Given the description of an element on the screen output the (x, y) to click on. 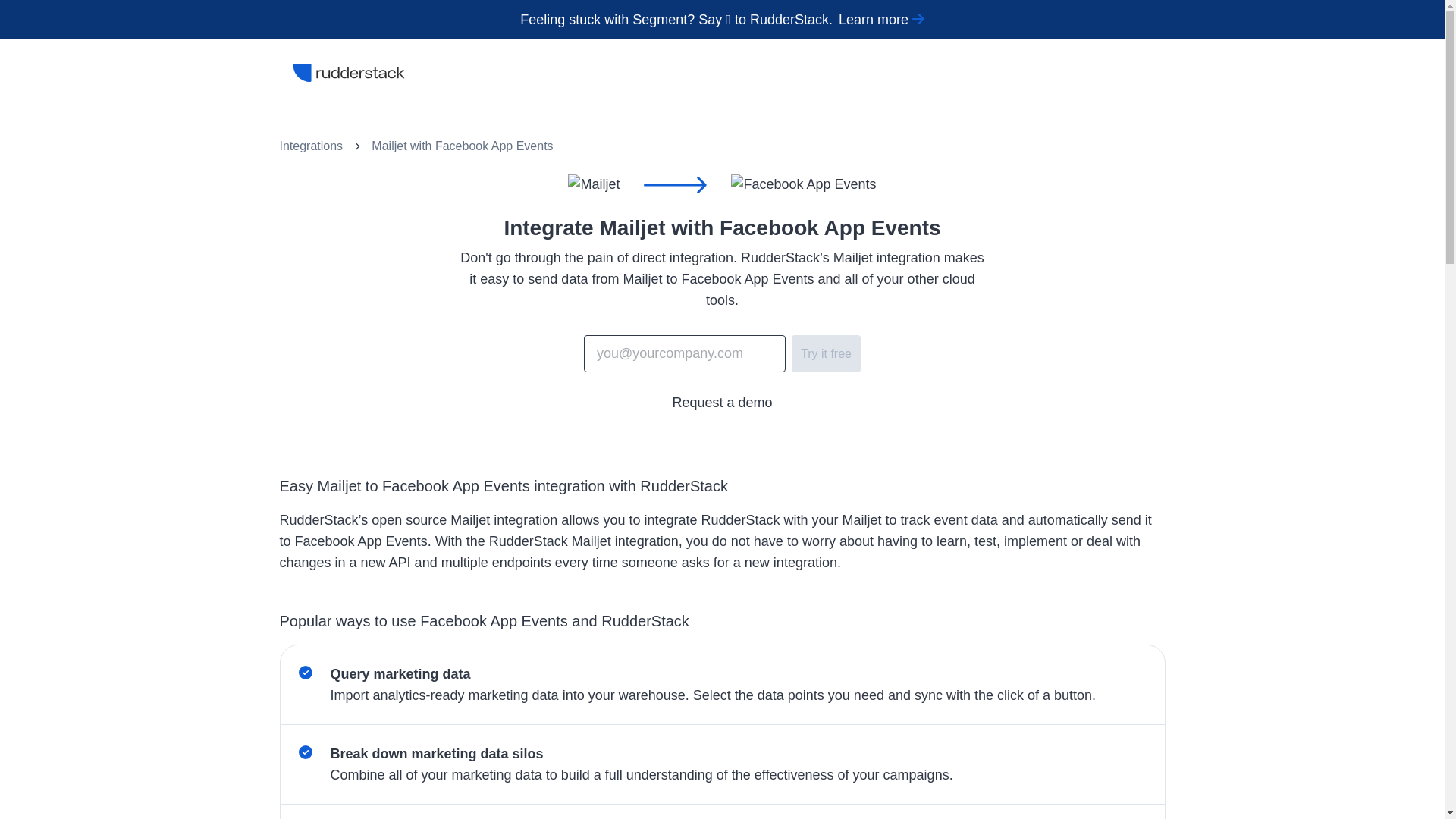
Integrations (310, 145)
Request a demo (721, 403)
Facebook App Events (494, 145)
Mailjet (388, 145)
Try it free (826, 353)
Learn more (881, 19)
